Given the description of an element on the screen output the (x, y) to click on. 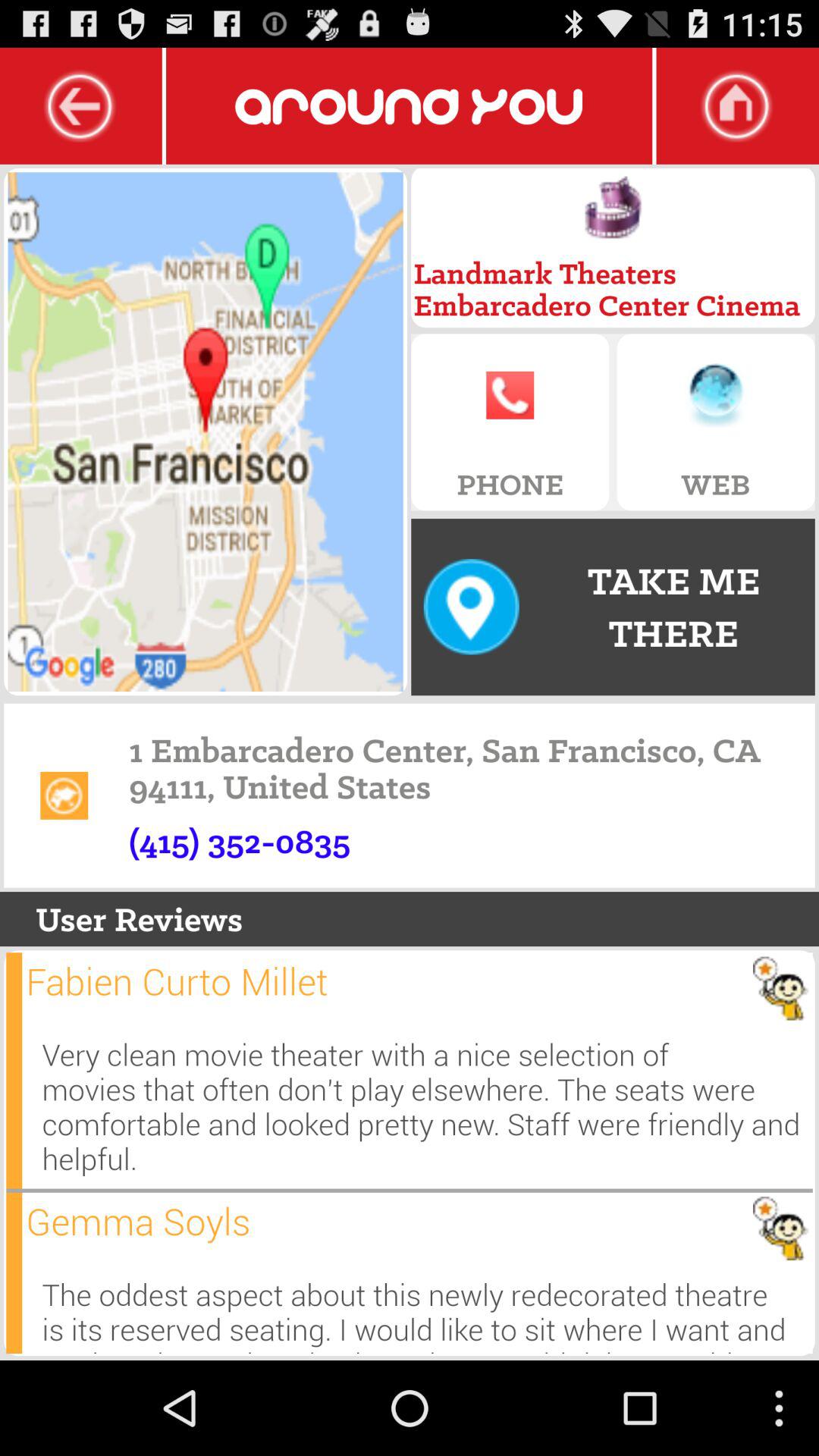
launch icon below     user reviews (14, 1070)
